Given the description of an element on the screen output the (x, y) to click on. 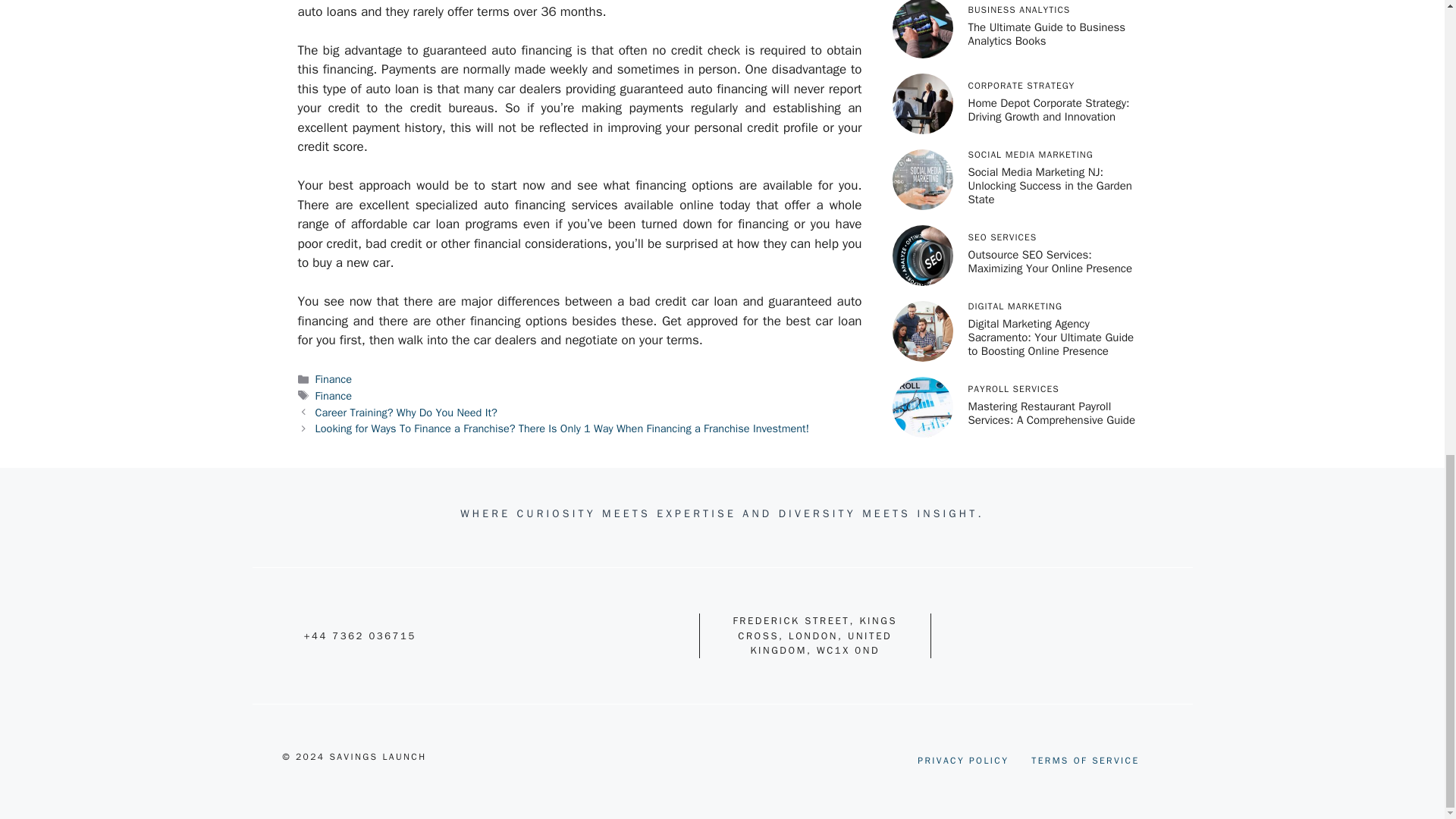
Finance (333, 395)
PRIVACY POLICY (963, 760)
Career Training? Why Do You Need It? (406, 412)
Finance (333, 378)
TERMS OF SERVICE (1084, 760)
